Given the description of an element on the screen output the (x, y) to click on. 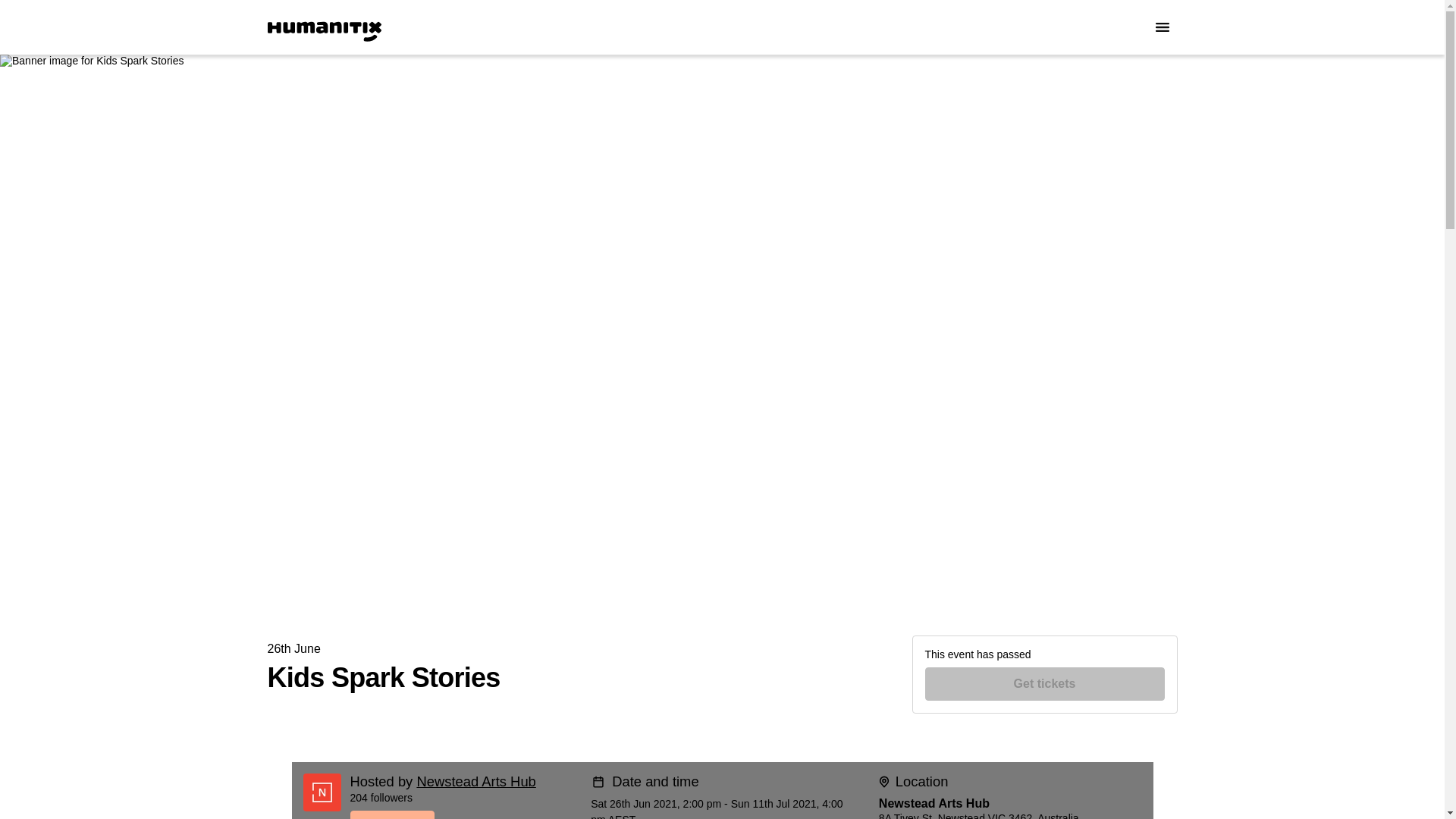
Get tickets (1044, 684)
Skip to Content (18, 18)
Newstead Arts Hub (475, 781)
Follow (465, 814)
